Given the description of an element on the screen output the (x, y) to click on. 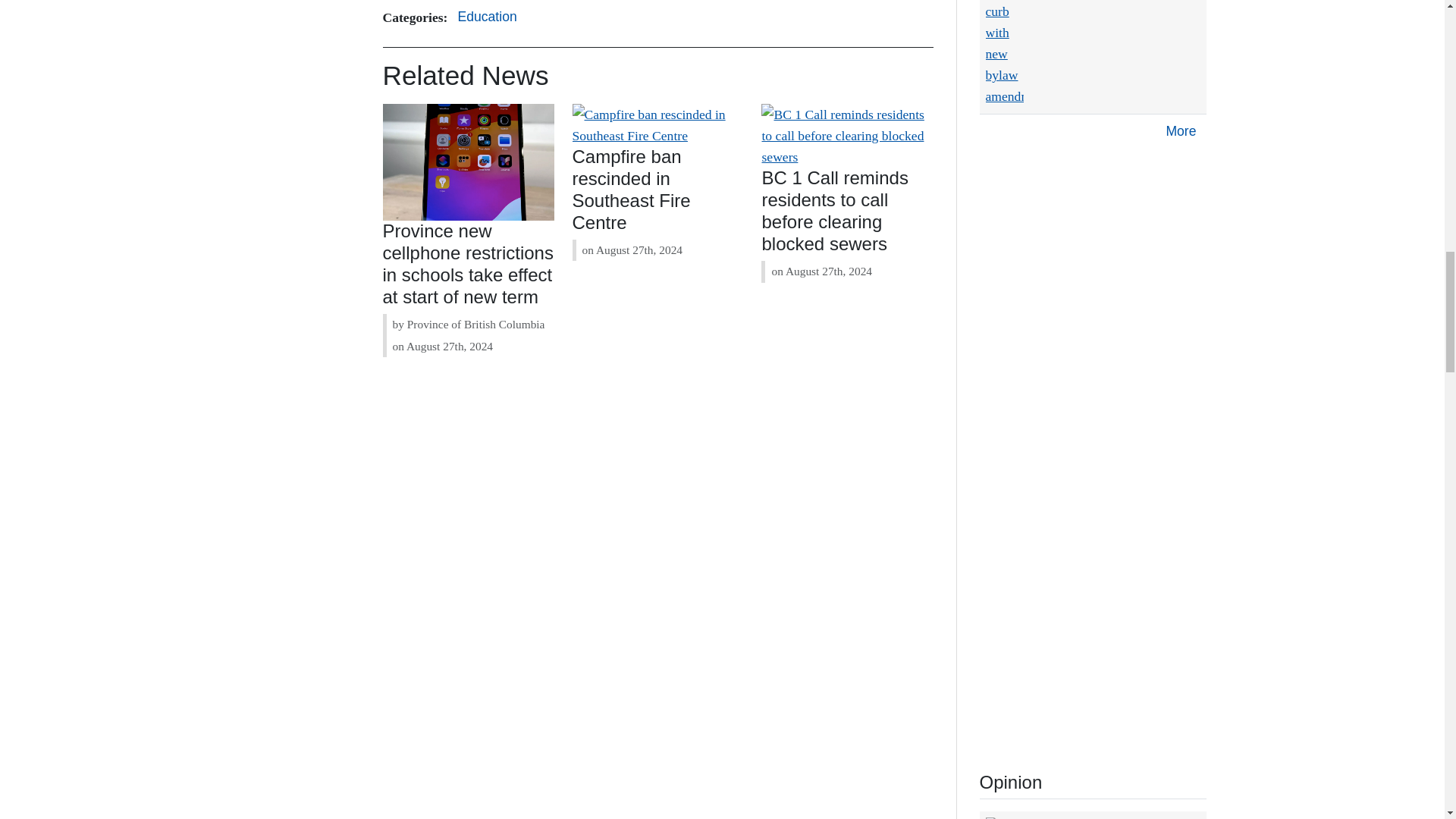
Campfire ban rescinded in Southeast Fire Centre (631, 188)
Education (485, 17)
More (1180, 131)
